Given the description of an element on the screen output the (x, y) to click on. 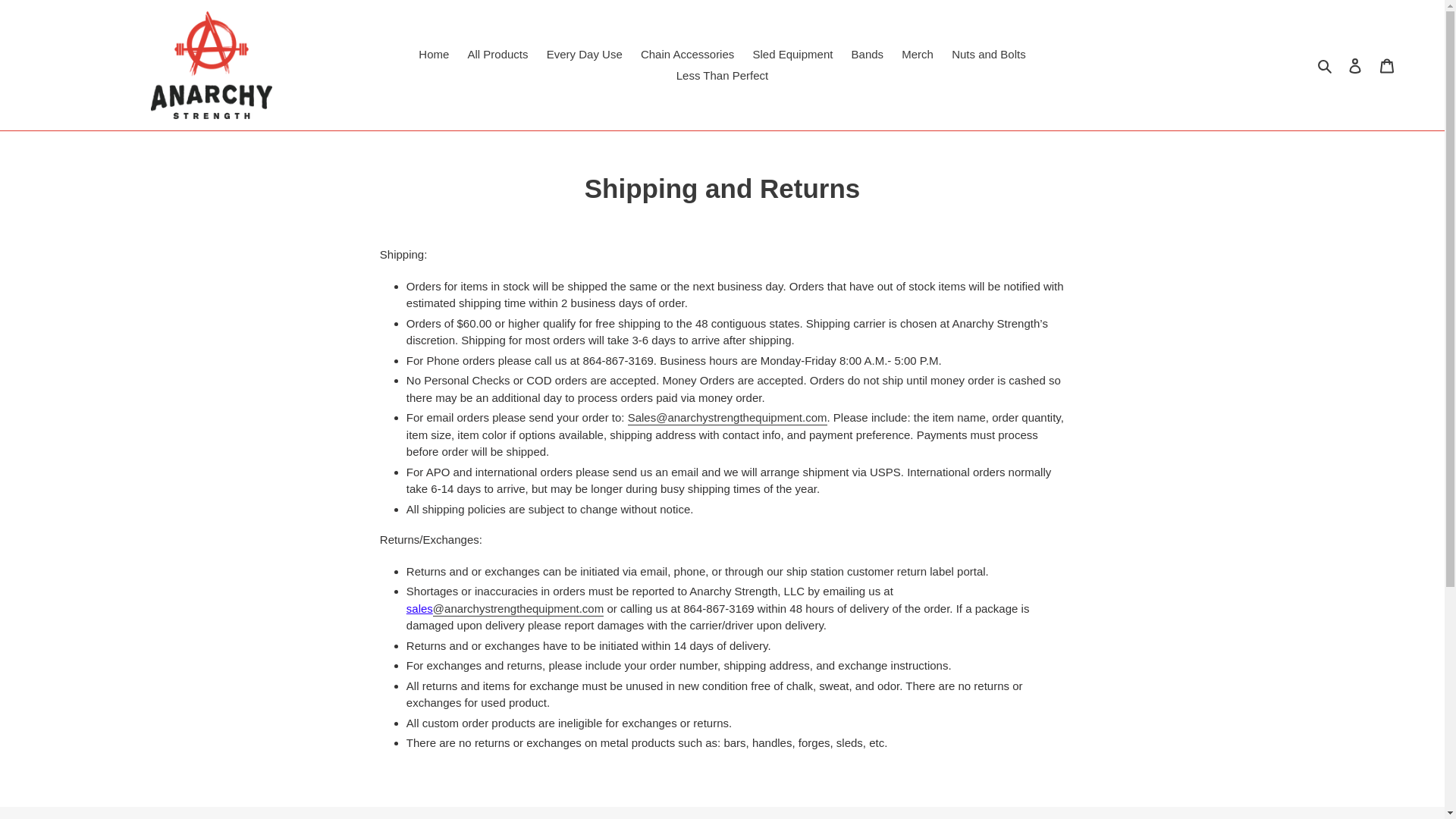
All Products (497, 55)
Cart (1387, 65)
Every Day Use (584, 55)
Bands (867, 55)
Search (1326, 65)
Sled Equipment (792, 55)
Home (433, 55)
Chain Accessories (687, 55)
Nuts and Bolts (988, 55)
Less Than Perfect (722, 75)
